Given the description of an element on the screen output the (x, y) to click on. 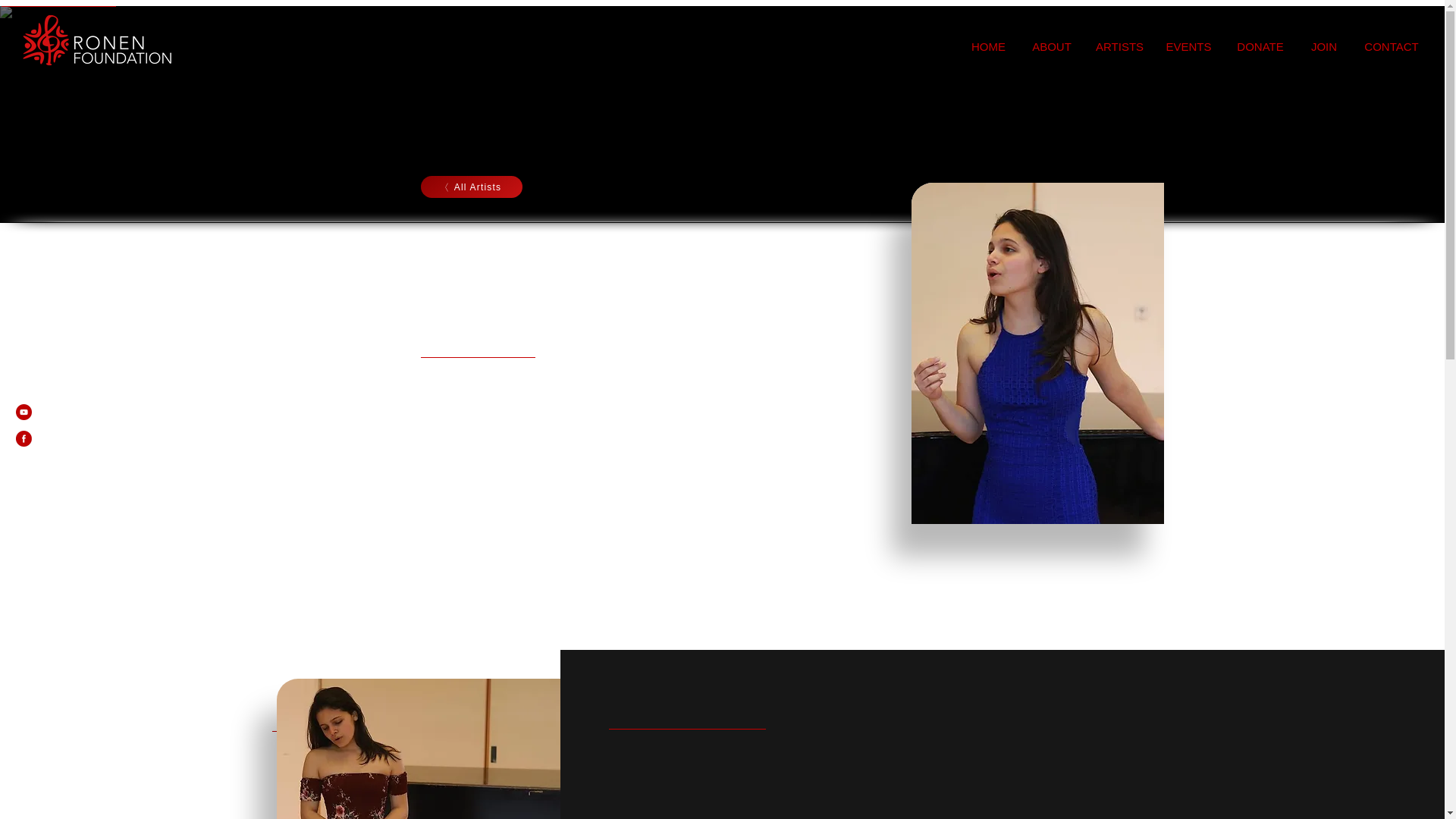
EVENTS (1188, 46)
CONTACT (1391, 46)
JOIN (1324, 46)
HOME (988, 46)
All Artists (470, 187)
ABOUT (1051, 46)
IMG-20190313-WA0030.jpg (418, 748)
ARTISTS (1119, 46)
DONATE (1260, 46)
